Given the description of an element on the screen output the (x, y) to click on. 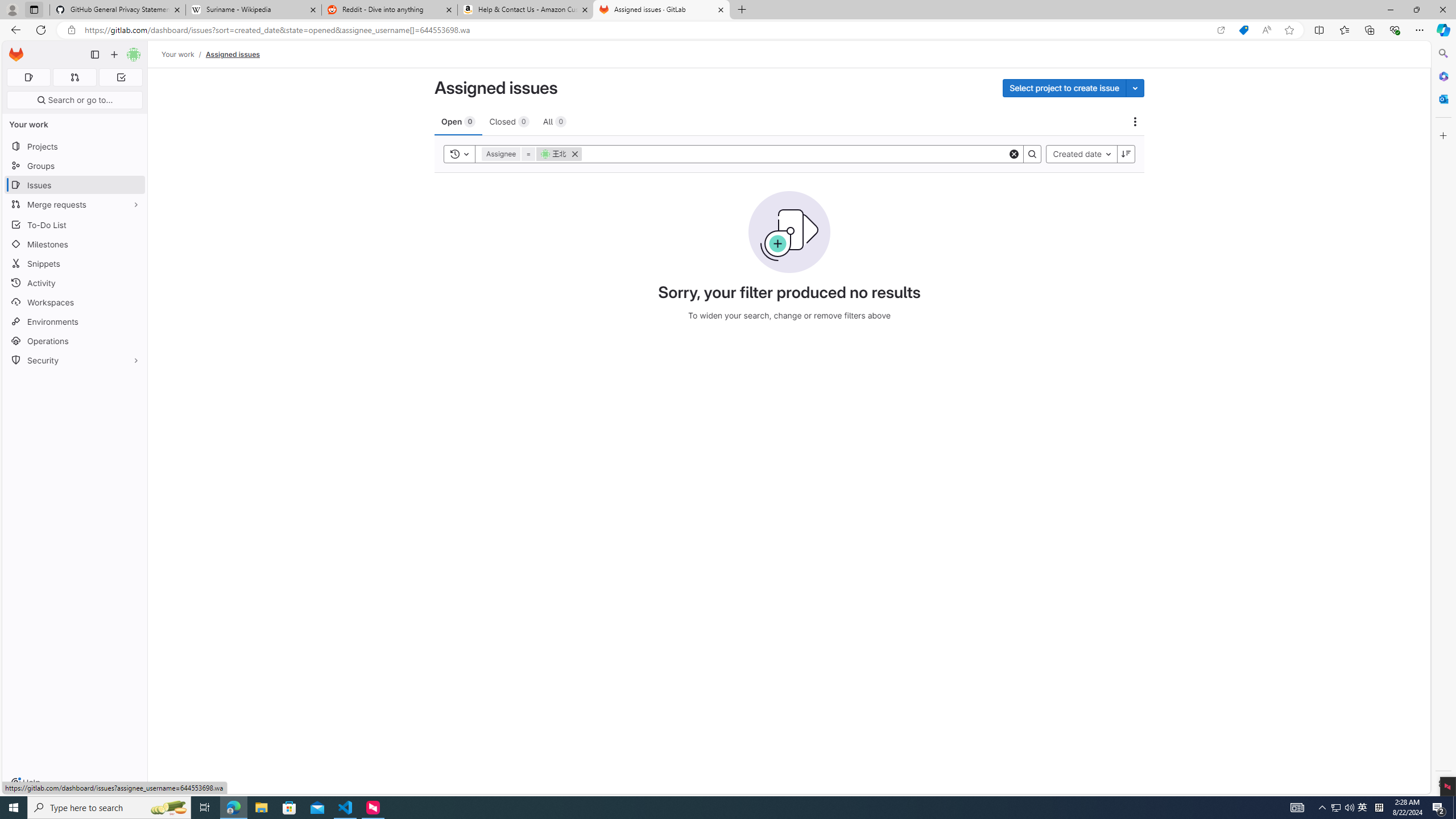
avatar (545, 153)
Primary navigation sidebar (94, 54)
Toggle history (460, 153)
Assigned issues (232, 53)
Groups (74, 165)
Projects (74, 145)
Issues (74, 185)
Merge requests (74, 203)
Your work (178, 53)
Open in app (1220, 29)
